Given the description of an element on the screen output the (x, y) to click on. 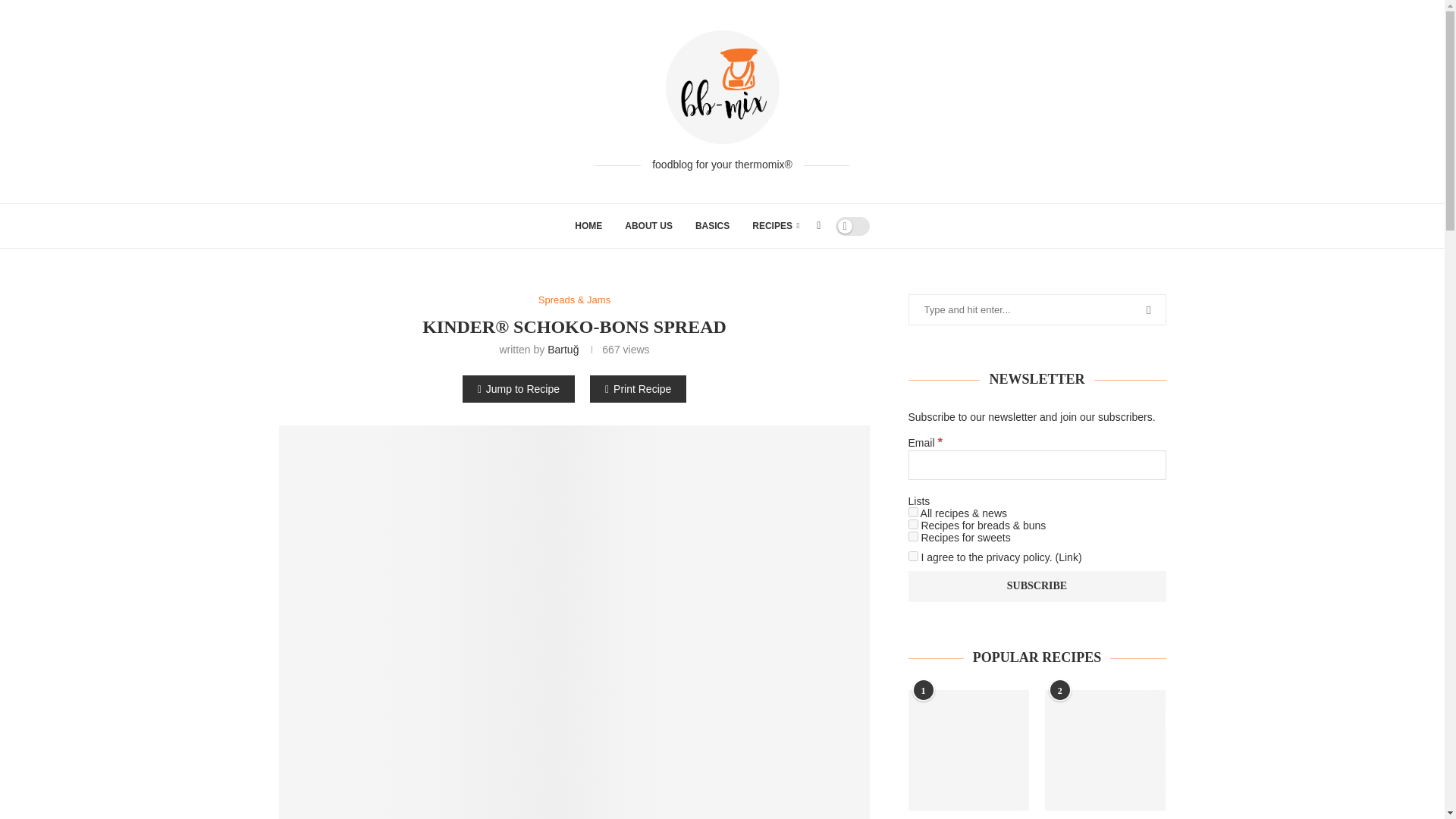
Doughnut (968, 750)
1 (913, 556)
HOME (588, 225)
ABOUT US (648, 225)
Jump to Recipe (519, 388)
Subscribe (1037, 585)
2 (913, 511)
4 (913, 536)
Print Recipe (637, 388)
BASICS (712, 225)
3 (913, 524)
RECIPES (775, 225)
